Given the description of an element on the screen output the (x, y) to click on. 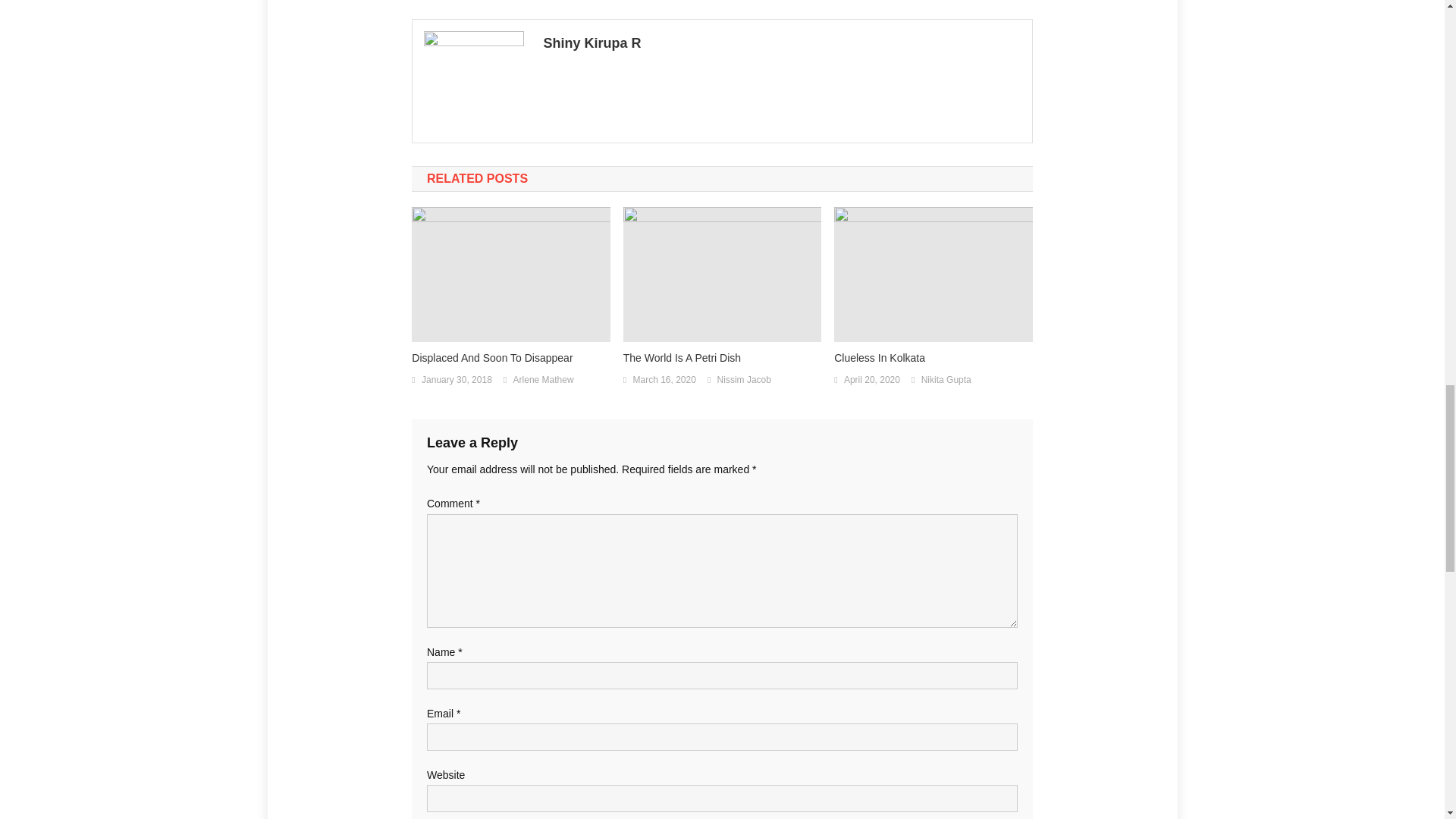
Nissim Jacob (744, 380)
March 16, 2020 (663, 380)
The World Is A Petri Dish (722, 357)
Arlene Mathew (543, 380)
Displaced And Soon To Disappear (511, 357)
January 30, 2018 (457, 380)
Shiny Kirupa R (781, 43)
